Given the description of an element on the screen output the (x, y) to click on. 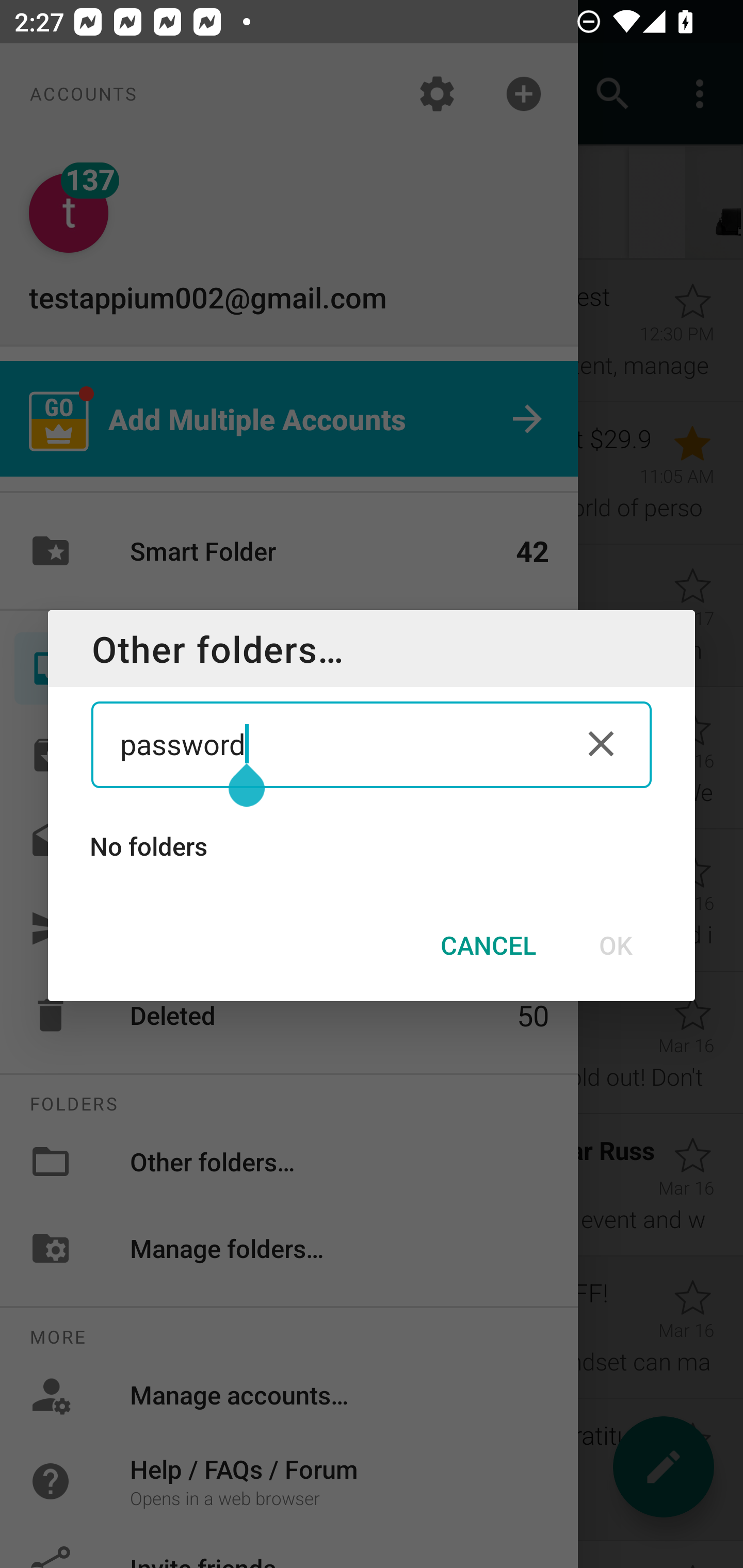
password (334, 743)
Cancel (600, 743)
No folders (371, 845)
CANCEL (488, 945)
OK (615, 945)
